Given the description of an element on the screen output the (x, y) to click on. 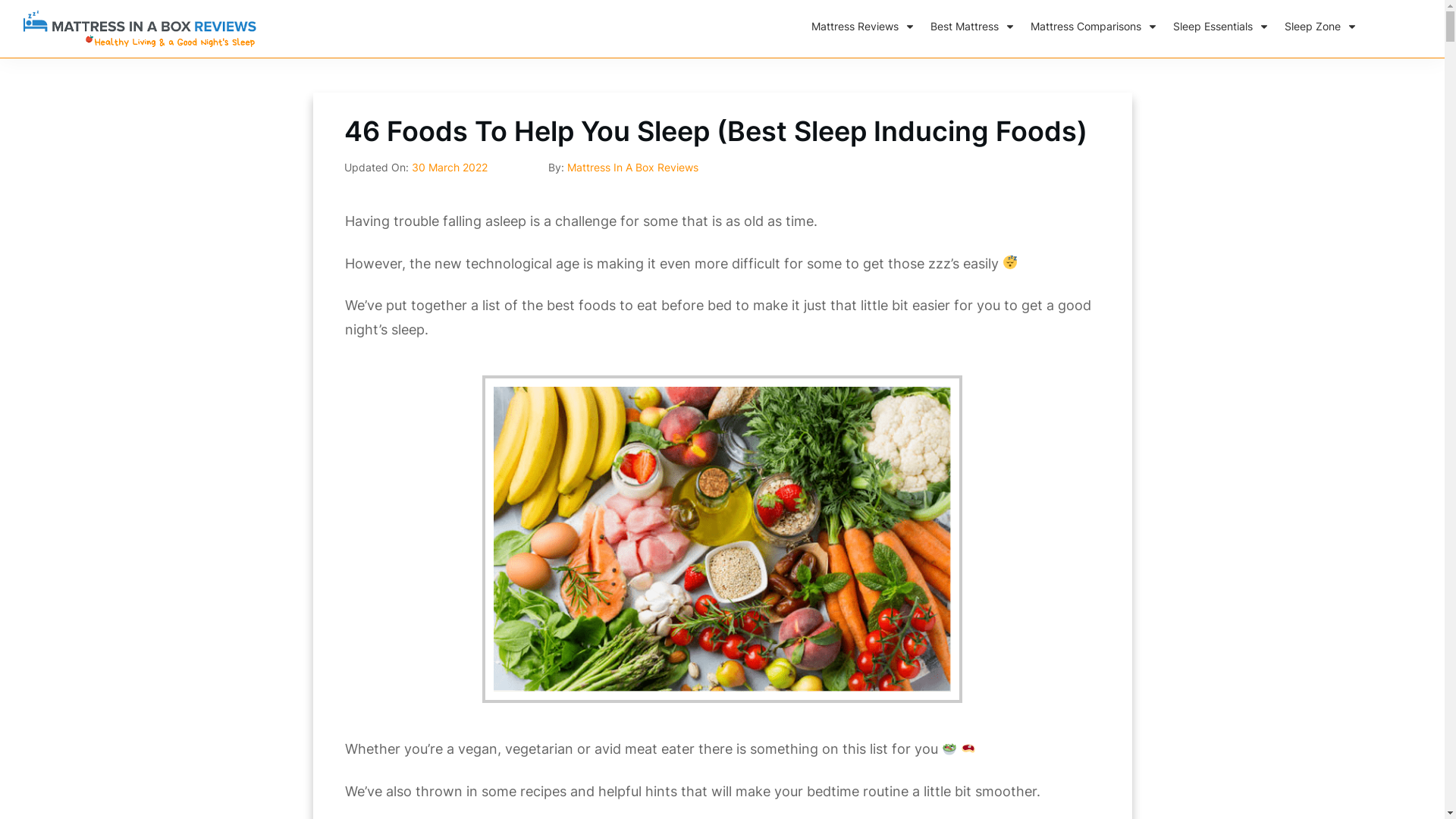
Foods To Help Sleep Element type: hover (721, 538)
Mattress Comparisons Element type: text (1093, 26)
Mattress Reviews Element type: text (863, 26)
Best Mattress Element type: text (972, 26)
Sleep Essentials Element type: text (1221, 26)
Sleep Zone Element type: text (1320, 26)
